Given the description of an element on the screen output the (x, y) to click on. 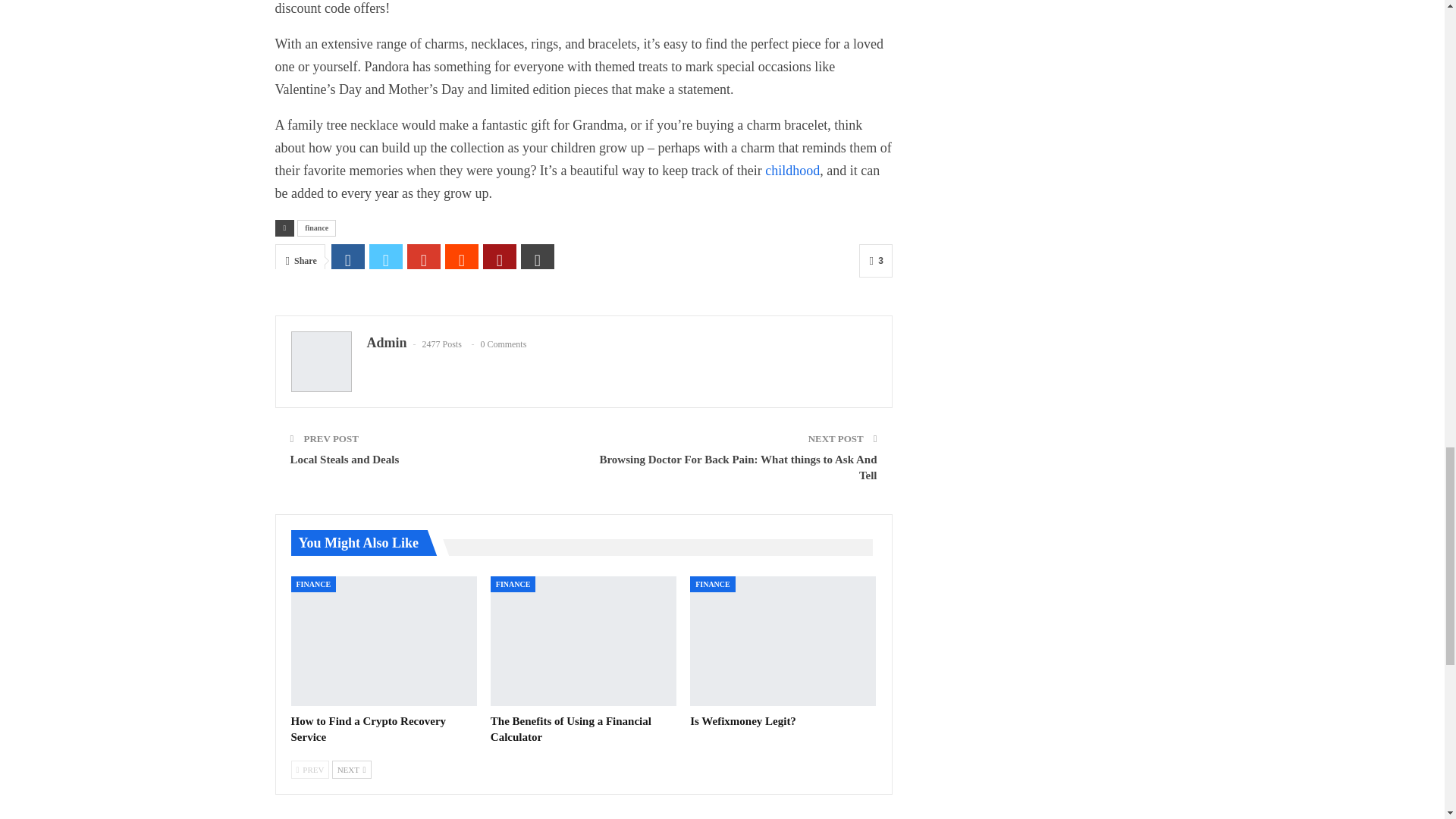
How to Find a Crypto Recovery Service (368, 728)
Is Wefixmoney Legit? (783, 641)
The Benefits of Using a Financial Calculator (583, 641)
The Benefits of Using a Financial Calculator (570, 728)
How to Find a Crypto Recovery Service (384, 641)
